Given the description of an element on the screen output the (x, y) to click on. 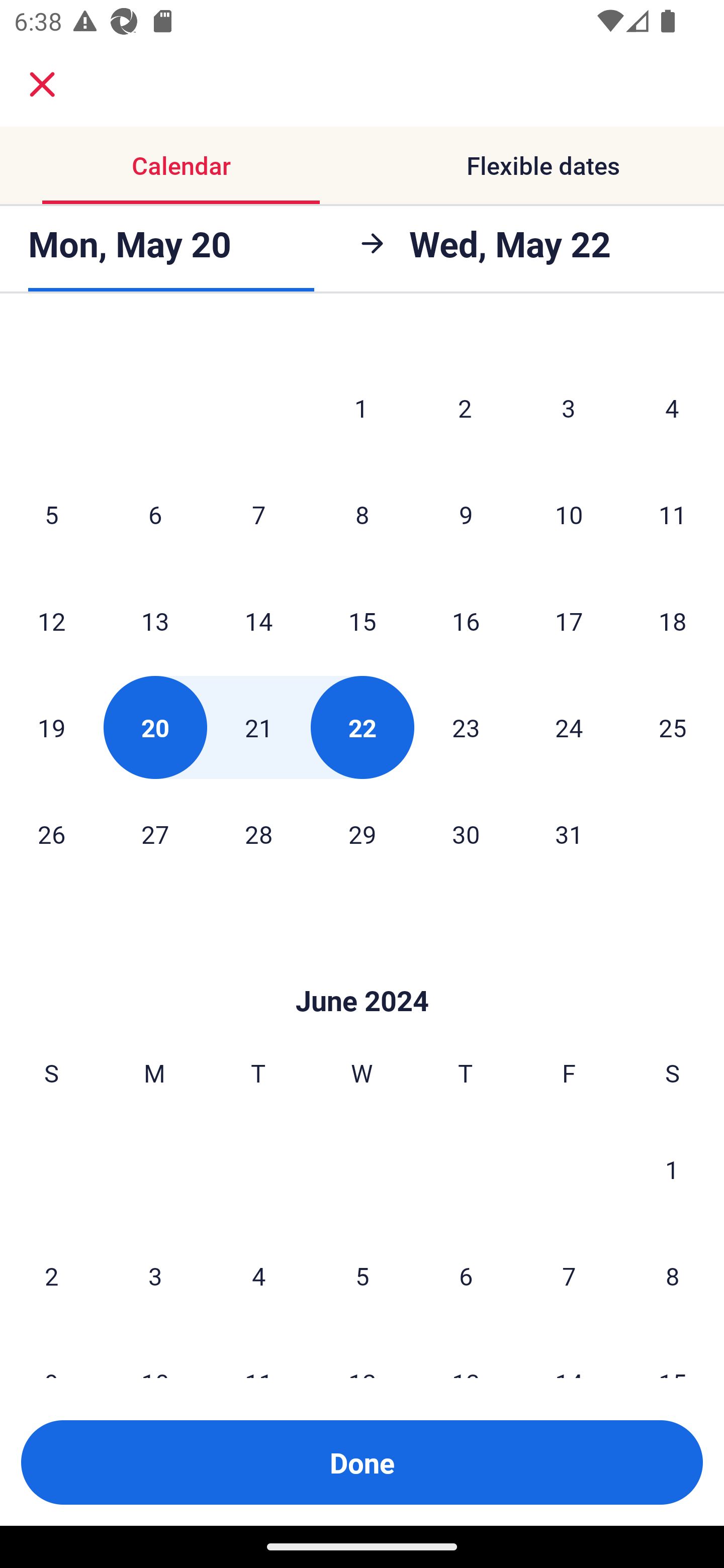
close. (42, 84)
Flexible dates (542, 164)
1 Wednesday, May 1, 2024 (361, 407)
2 Thursday, May 2, 2024 (464, 407)
3 Friday, May 3, 2024 (568, 407)
4 Saturday, May 4, 2024 (672, 407)
5 Sunday, May 5, 2024 (51, 514)
6 Monday, May 6, 2024 (155, 514)
7 Tuesday, May 7, 2024 (258, 514)
8 Wednesday, May 8, 2024 (362, 514)
9 Thursday, May 9, 2024 (465, 514)
10 Friday, May 10, 2024 (569, 514)
11 Saturday, May 11, 2024 (672, 514)
12 Sunday, May 12, 2024 (51, 620)
13 Monday, May 13, 2024 (155, 620)
14 Tuesday, May 14, 2024 (258, 620)
15 Wednesday, May 15, 2024 (362, 620)
16 Thursday, May 16, 2024 (465, 620)
17 Friday, May 17, 2024 (569, 620)
18 Saturday, May 18, 2024 (672, 620)
19 Sunday, May 19, 2024 (51, 727)
23 Thursday, May 23, 2024 (465, 727)
24 Friday, May 24, 2024 (569, 727)
25 Saturday, May 25, 2024 (672, 727)
26 Sunday, May 26, 2024 (51, 833)
27 Monday, May 27, 2024 (155, 833)
28 Tuesday, May 28, 2024 (258, 833)
29 Wednesday, May 29, 2024 (362, 833)
30 Thursday, May 30, 2024 (465, 833)
31 Friday, May 31, 2024 (569, 833)
Skip to Done (362, 970)
1 Saturday, June 1, 2024 (672, 1169)
2 Sunday, June 2, 2024 (51, 1275)
3 Monday, June 3, 2024 (155, 1275)
4 Tuesday, June 4, 2024 (258, 1275)
5 Wednesday, June 5, 2024 (362, 1275)
6 Thursday, June 6, 2024 (465, 1275)
7 Friday, June 7, 2024 (569, 1275)
8 Saturday, June 8, 2024 (672, 1275)
Done (361, 1462)
